Given the description of an element on the screen output the (x, y) to click on. 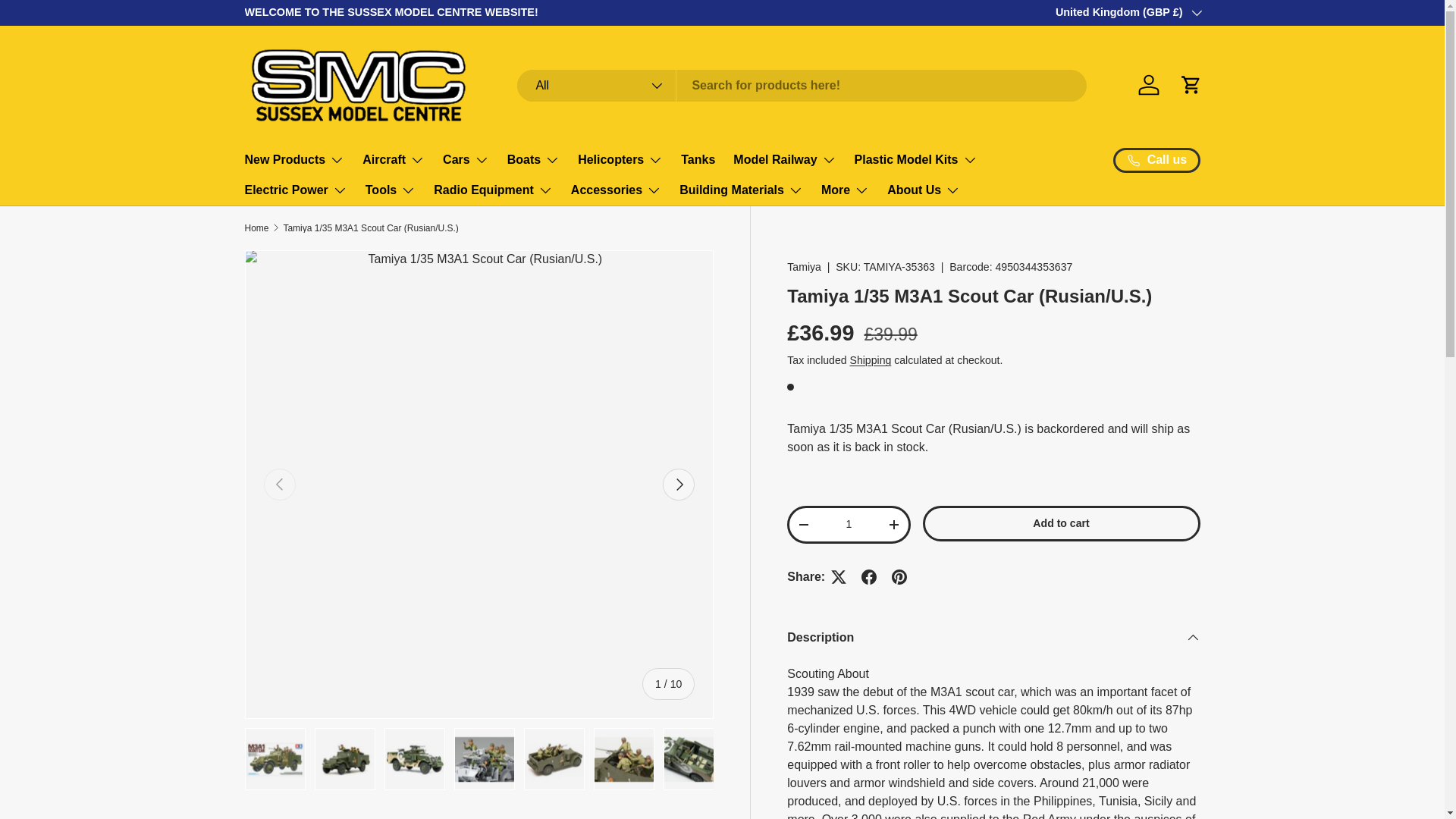
New Products (293, 159)
Log in (1147, 84)
Tweet on X (838, 576)
Share on Facebook (868, 576)
1 (848, 523)
Aircraft (393, 159)
Cart (1190, 84)
Skip to content (69, 22)
Pin on Pinterest (898, 576)
Cars (465, 159)
